Given the description of an element on the screen output the (x, y) to click on. 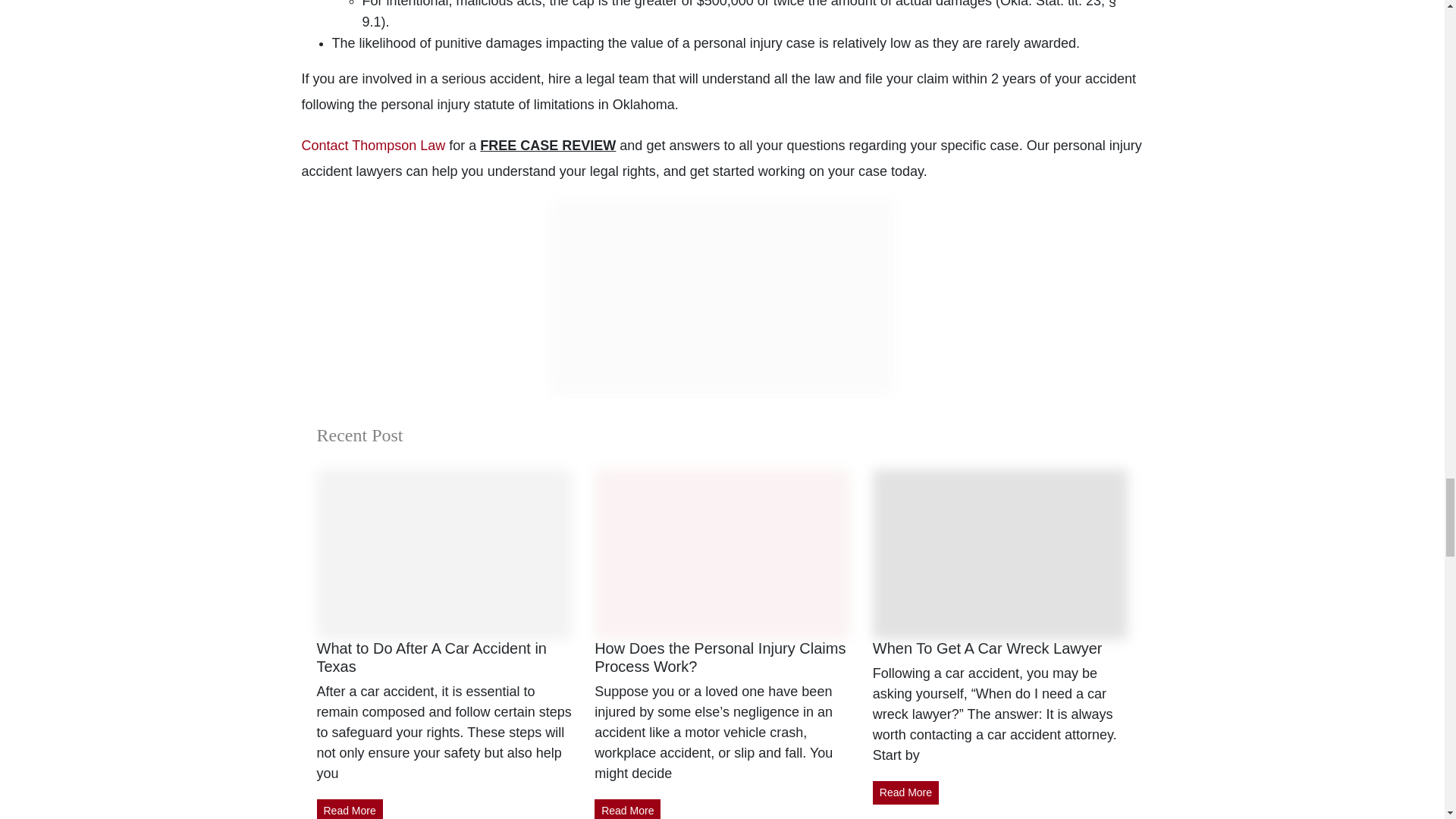
When To Get A Car Wreck Lawyer 7 (1000, 554)
What to Do After A Car Accident in Texas 5 (444, 554)
Personal Injury Statute of Limitations in Oklahoma 4 (722, 296)
How Does the Personal Injury Claims Process Work? 6 (722, 554)
Read More (905, 792)
Contact Thompson Law (373, 145)
Read More (349, 809)
How Does the Personal Injury Claims Process Work? (719, 656)
What to Do After A Car Accident in Texas (432, 656)
When To Get A Car Wreck Lawyer (987, 647)
